Given the description of an element on the screen output the (x, y) to click on. 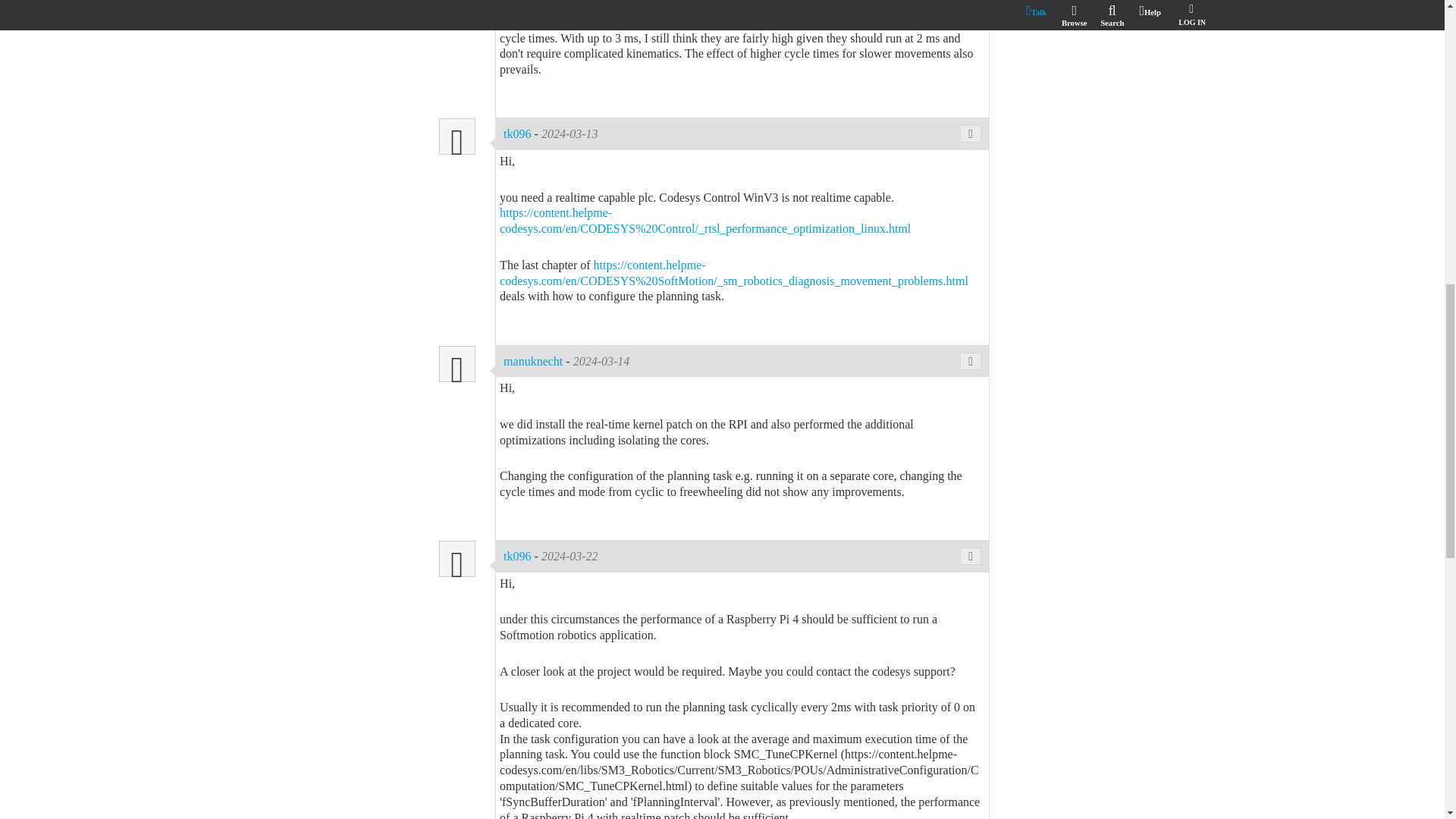
manuknecht (534, 360)
User (457, 135)
tk096 (518, 555)
tk096 (518, 133)
